Given the description of an element on the screen output the (x, y) to click on. 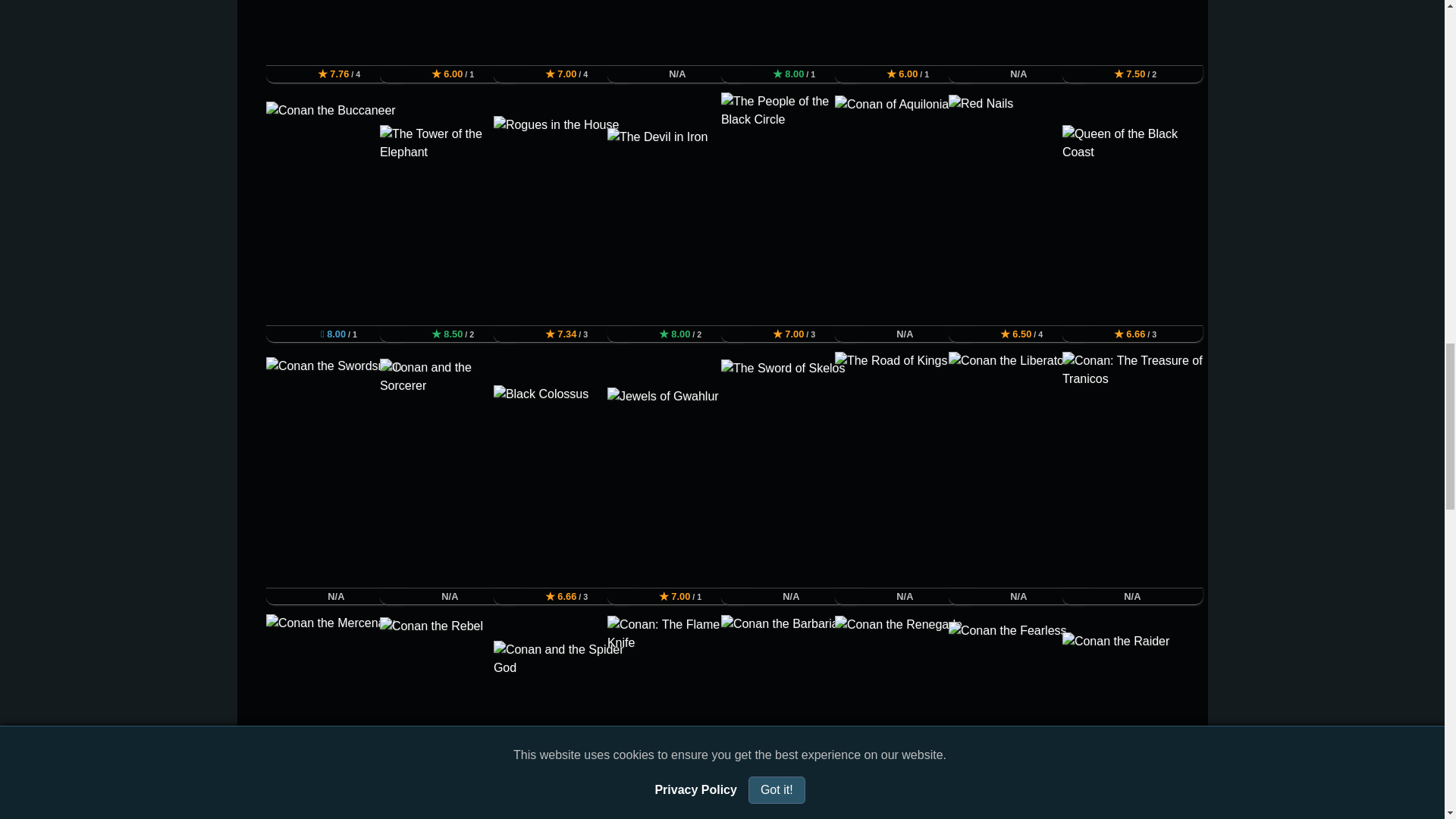
Conan the Freebooter by L. Sprague de Camp, Robert E. Howard (790, 32)
Conan by L. Sprague de Camp, Robert E. Howard, Lin Carter (336, 32)
Conan the Warrior by Robert E. Howard (563, 32)
Conan the Usurper by L. Sprague de Camp, Robert E. Howard (449, 32)
